Given the description of an element on the screen output the (x, y) to click on. 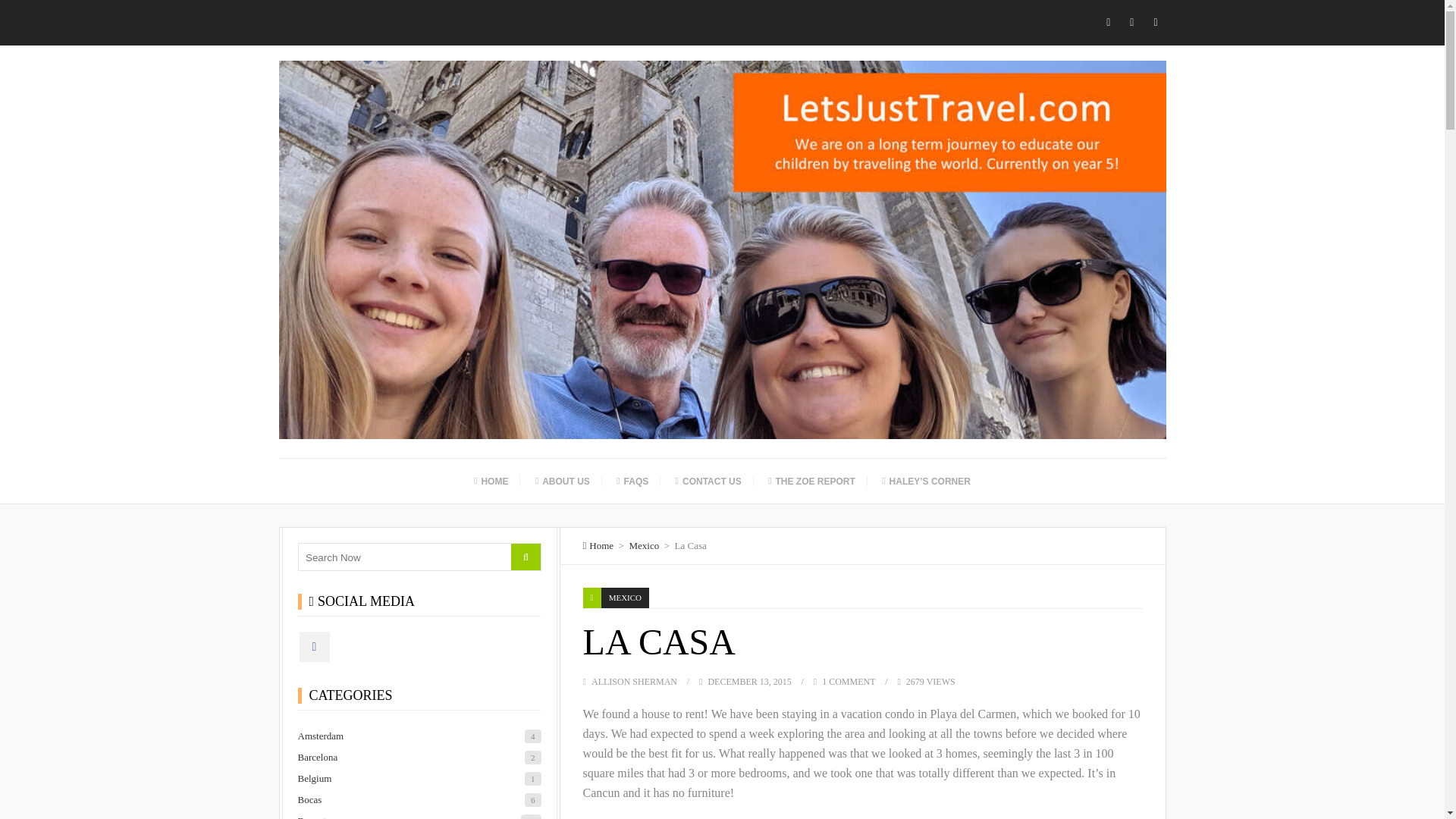
THE ZOE REPORT (811, 481)
View all posts in Mexico (625, 598)
1 COMMENT (848, 681)
ALLISON SHERMAN (634, 681)
Mexico (643, 545)
CONTACT US (708, 481)
Home (598, 545)
FAQS (632, 481)
MEXICO (625, 598)
Posts by Allison Sherman (634, 681)
HOME (490, 481)
ABOUT US (562, 481)
DECEMBER 13, 2015 (748, 681)
